Given the description of an element on the screen output the (x, y) to click on. 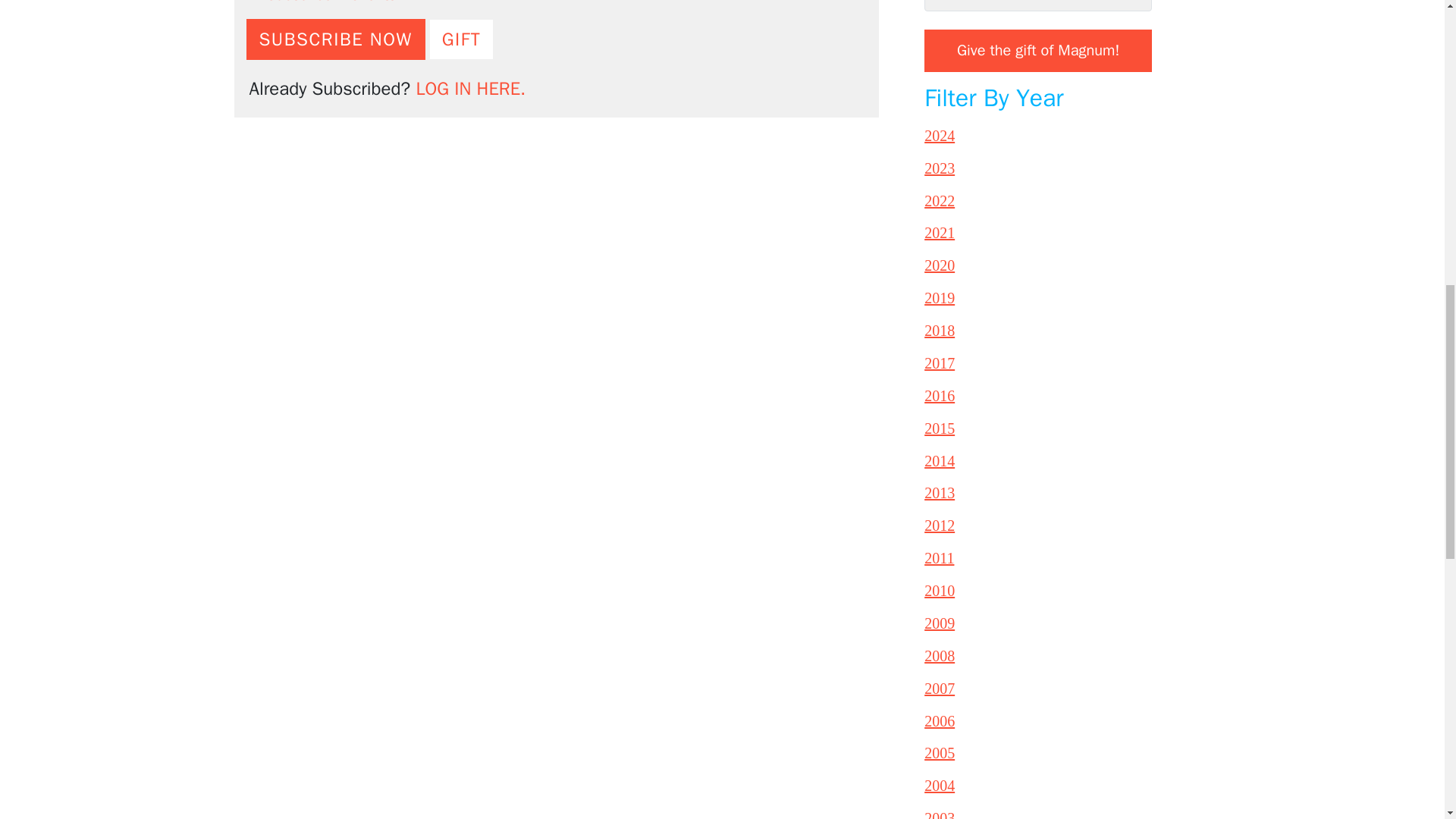
2019 (939, 297)
2017 (939, 362)
2011 (938, 557)
2013 (939, 492)
2014 (939, 460)
2020 (939, 265)
2016 (939, 395)
All Subscriber Benefits (321, 2)
2010 (939, 590)
2021 (939, 232)
GIFT (462, 38)
Give the gift of Magnum! (1038, 50)
LOG IN HERE. (469, 87)
2015 (939, 428)
SUBSCRIBE NOW (335, 38)
